Given the description of an element on the screen output the (x, y) to click on. 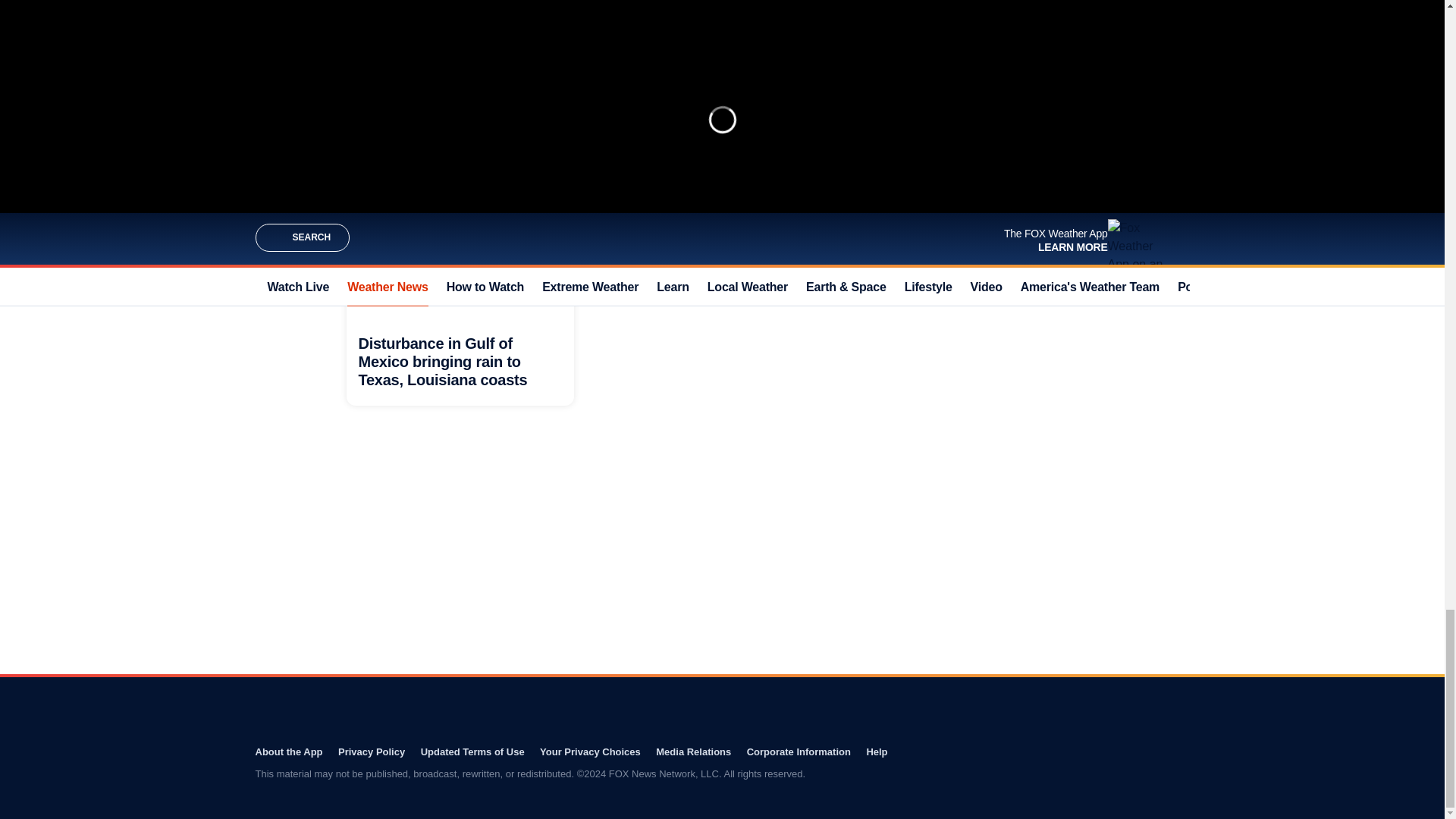
FLORIDA (699, 222)
THUNDERSTORMS (769, 222)
LIGHTNING (644, 222)
